Given the description of an element on the screen output the (x, y) to click on. 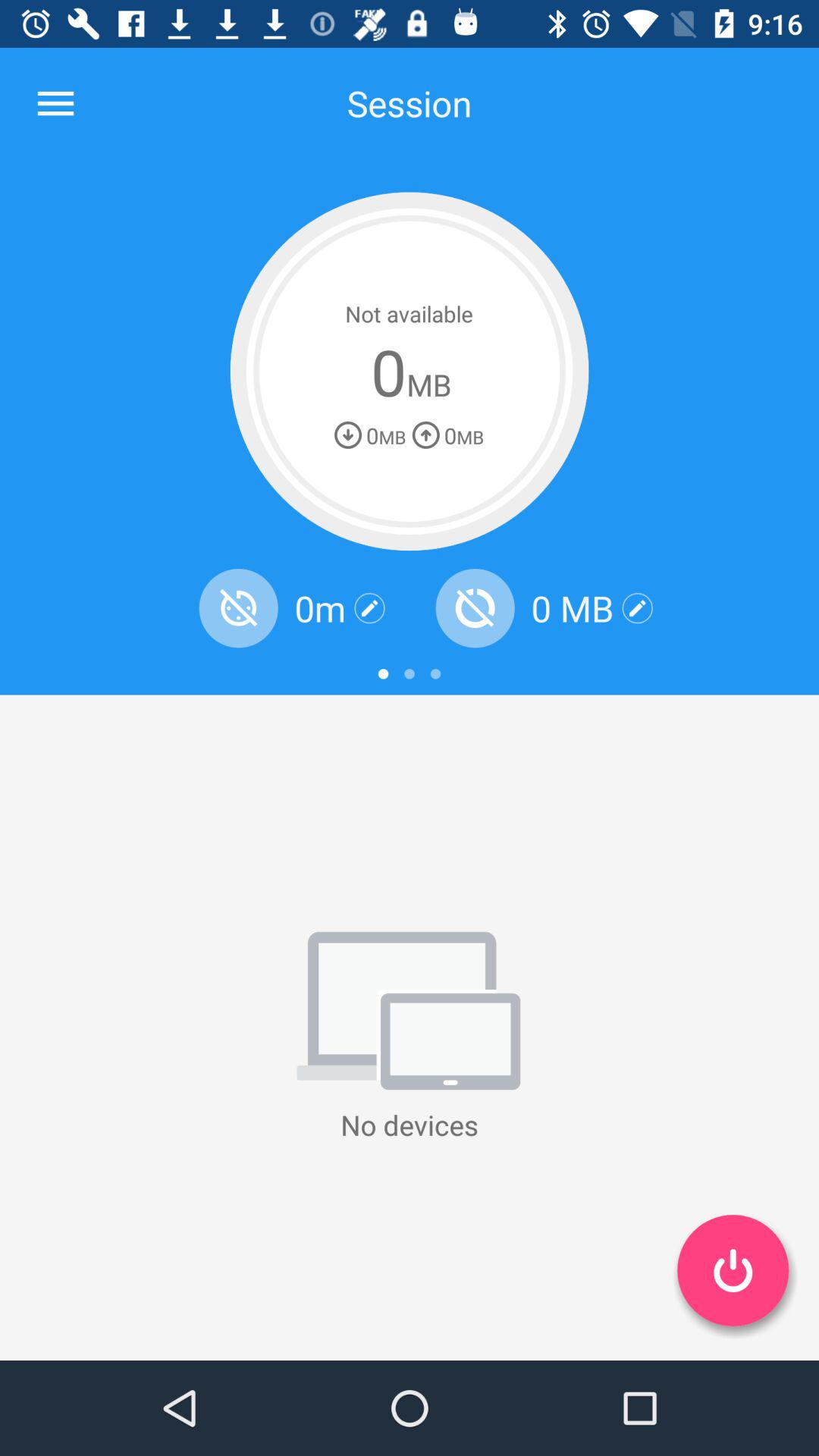
press the item at the top left corner (55, 103)
